Given the description of an element on the screen output the (x, y) to click on. 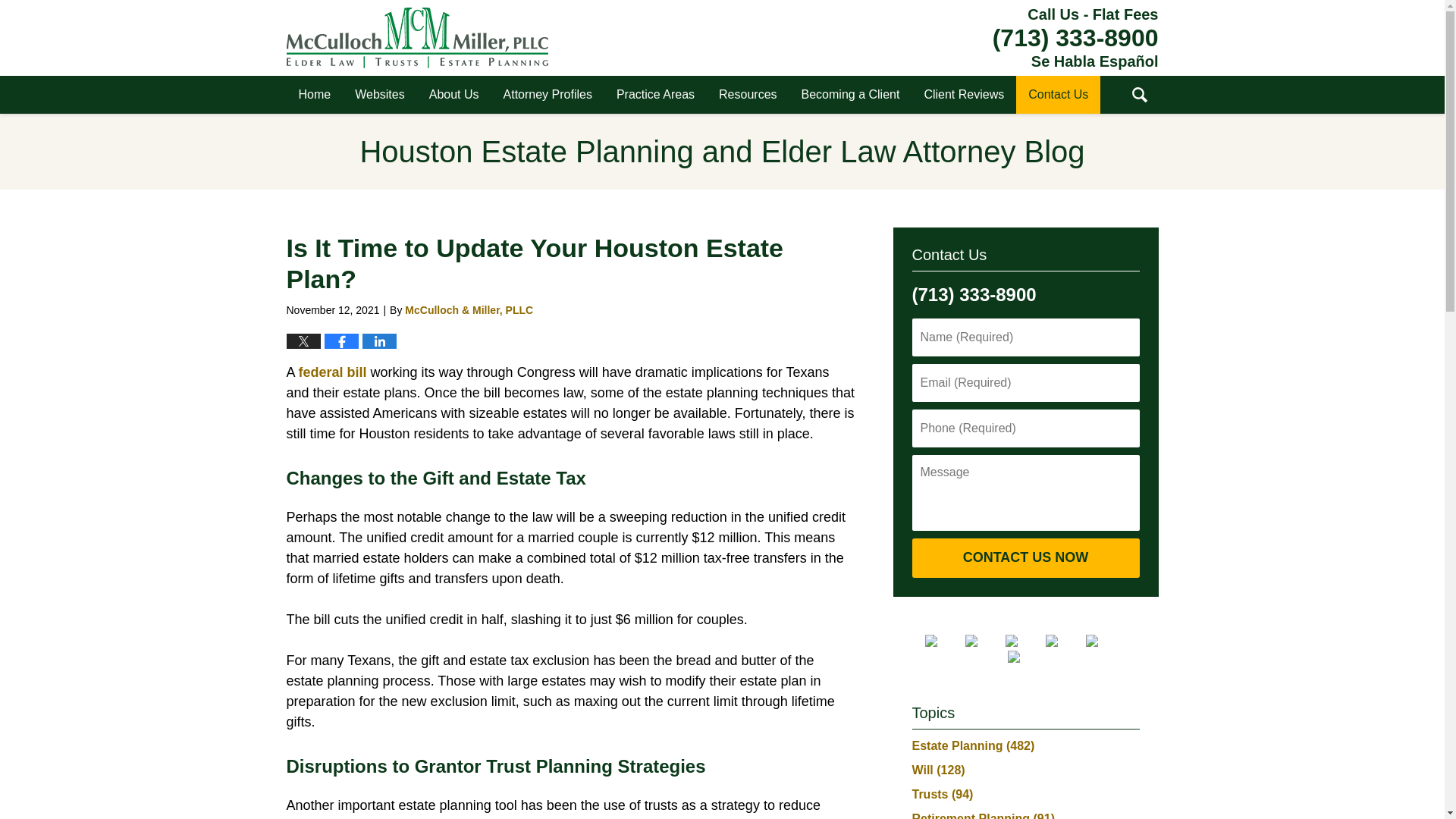
Practice Areas (655, 94)
Contact Us (1058, 94)
Attorney Profiles (548, 94)
Houston Estate Planning and Elder Law Attorney Blog (417, 37)
Home (314, 94)
YouTube (1104, 640)
Client Reviews (963, 94)
About Us (454, 94)
Please enter a valid phone number. (1024, 428)
federal bill (332, 372)
